Given the description of an element on the screen output the (x, y) to click on. 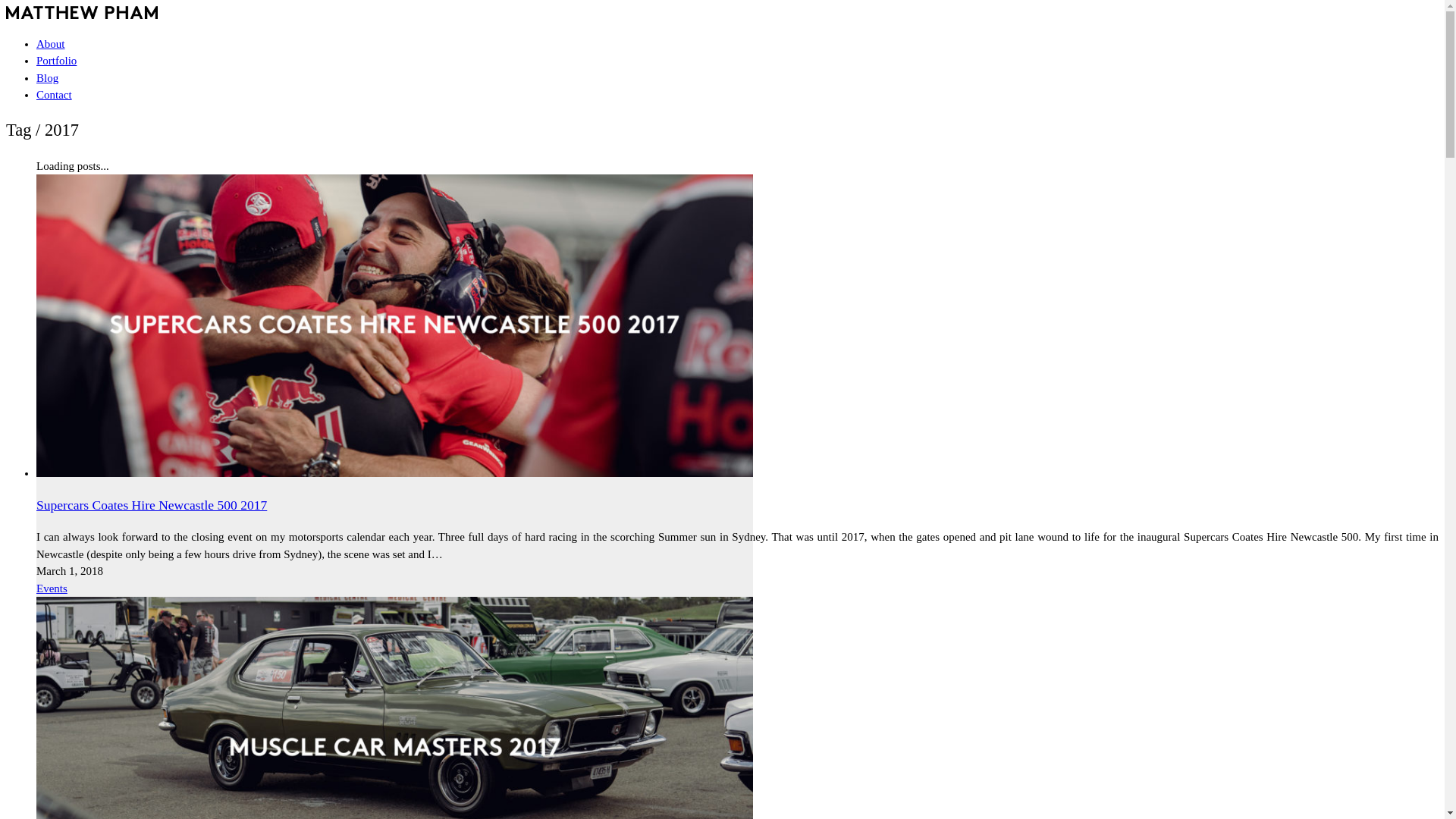
Events Element type: text (51, 588)
Supercars Coates Hire Newcastle 500 2017 Element type: text (151, 504)
Portfolio Element type: text (56, 60)
Blog Element type: text (47, 77)
About Element type: text (50, 43)
Contact Element type: text (54, 94)
